Given the description of an element on the screen output the (x, y) to click on. 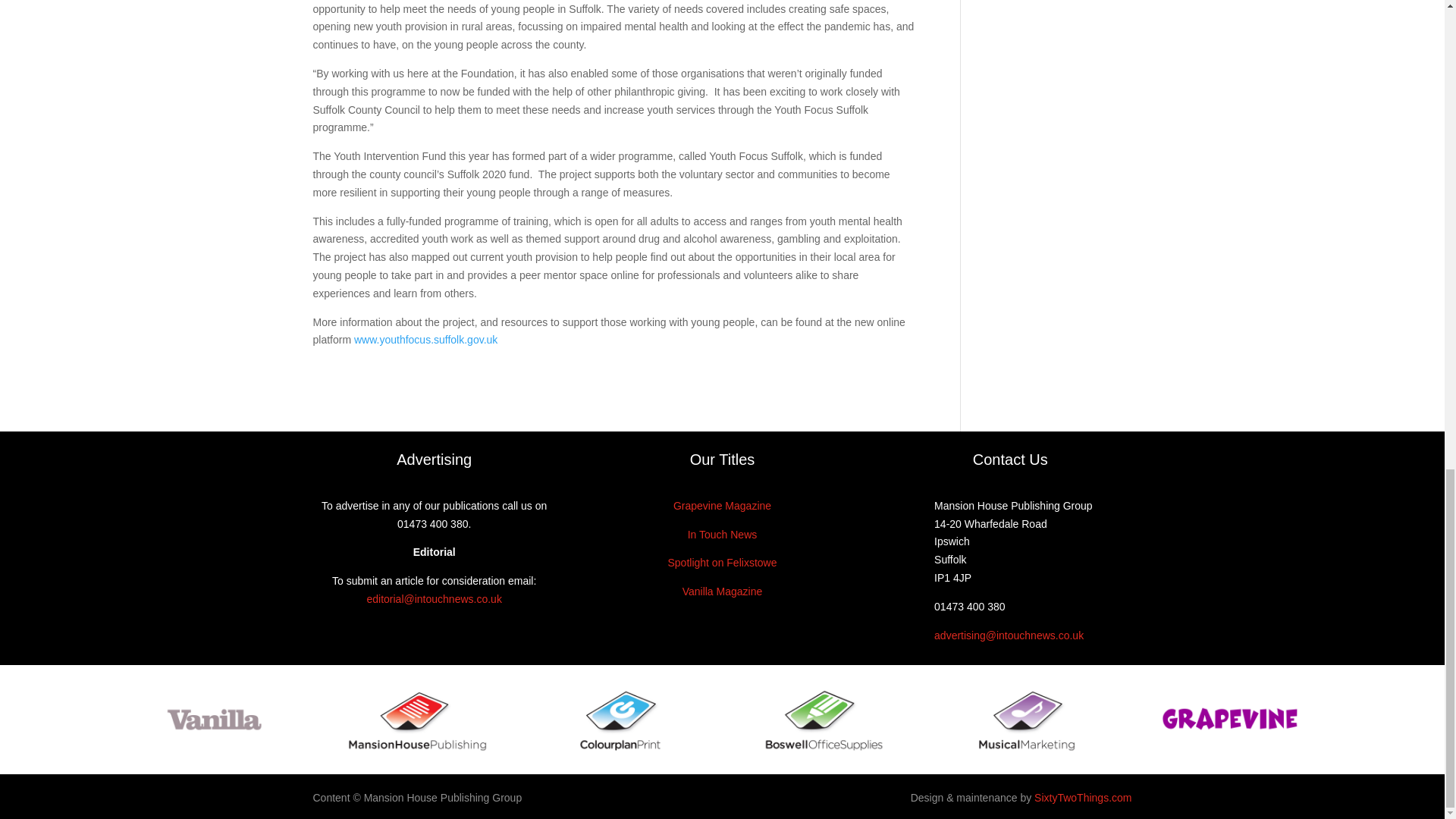
wsa-logo-vanilla-2 (213, 718)
wsa-logo-boswelloffice-png-800 (823, 718)
Spotlight on Felixstowe (721, 562)
Grapevine Magazine (721, 505)
wsa-logo-colourplan-png-800 (620, 718)
wsa-logo-mansionhouse-png-800 (416, 718)
In Touch News (722, 534)
wsa-logo-grapevine (1230, 718)
Vanilla Magazine (722, 591)
wsa-logo-musicalmarketing-png-800 (1026, 718)
